Given the description of an element on the screen output the (x, y) to click on. 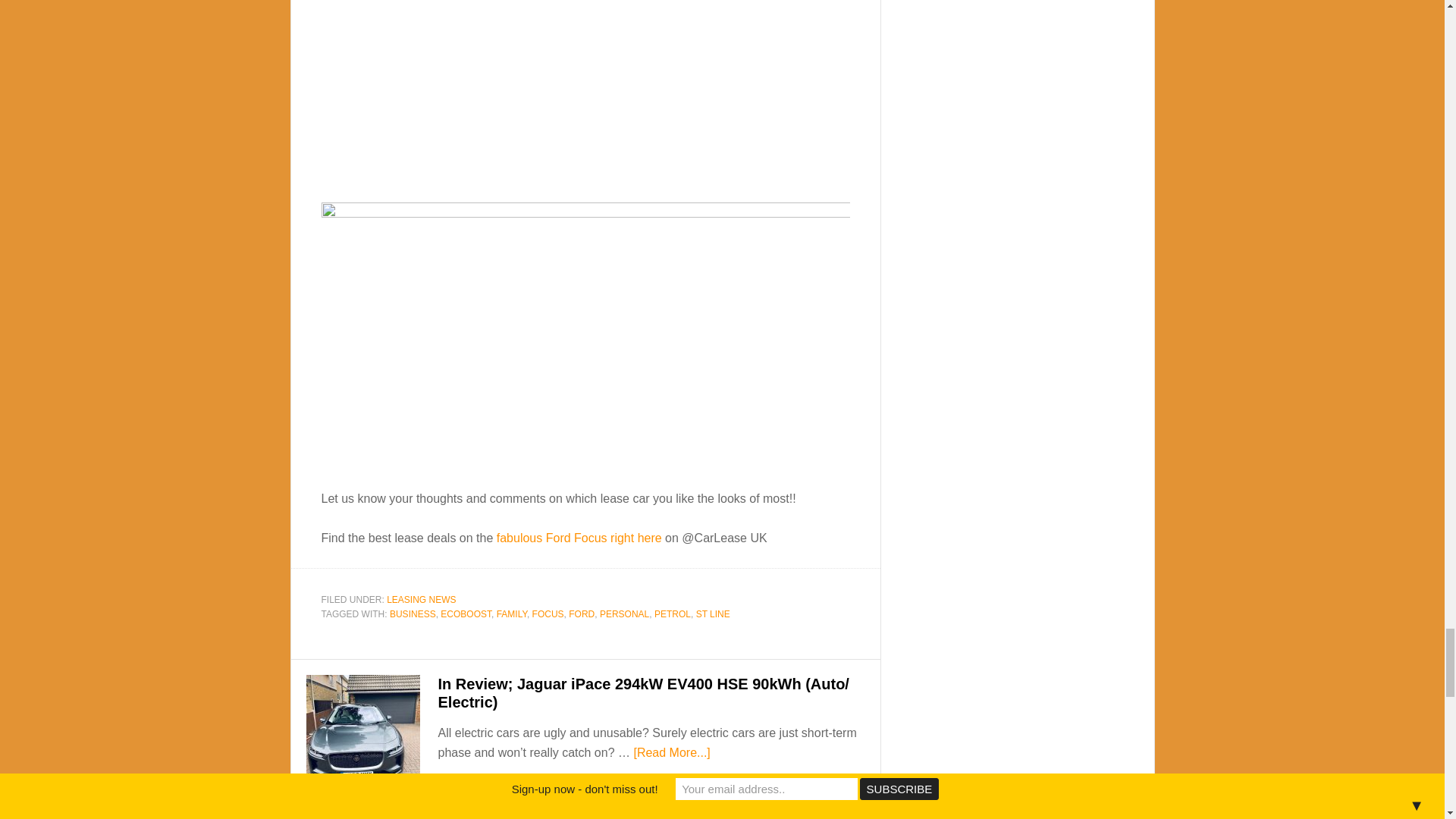
BUSINESS (412, 614)
LEASING NEWS (421, 599)
fabulous Ford Focus right here (579, 537)
